Given the description of an element on the screen output the (x, y) to click on. 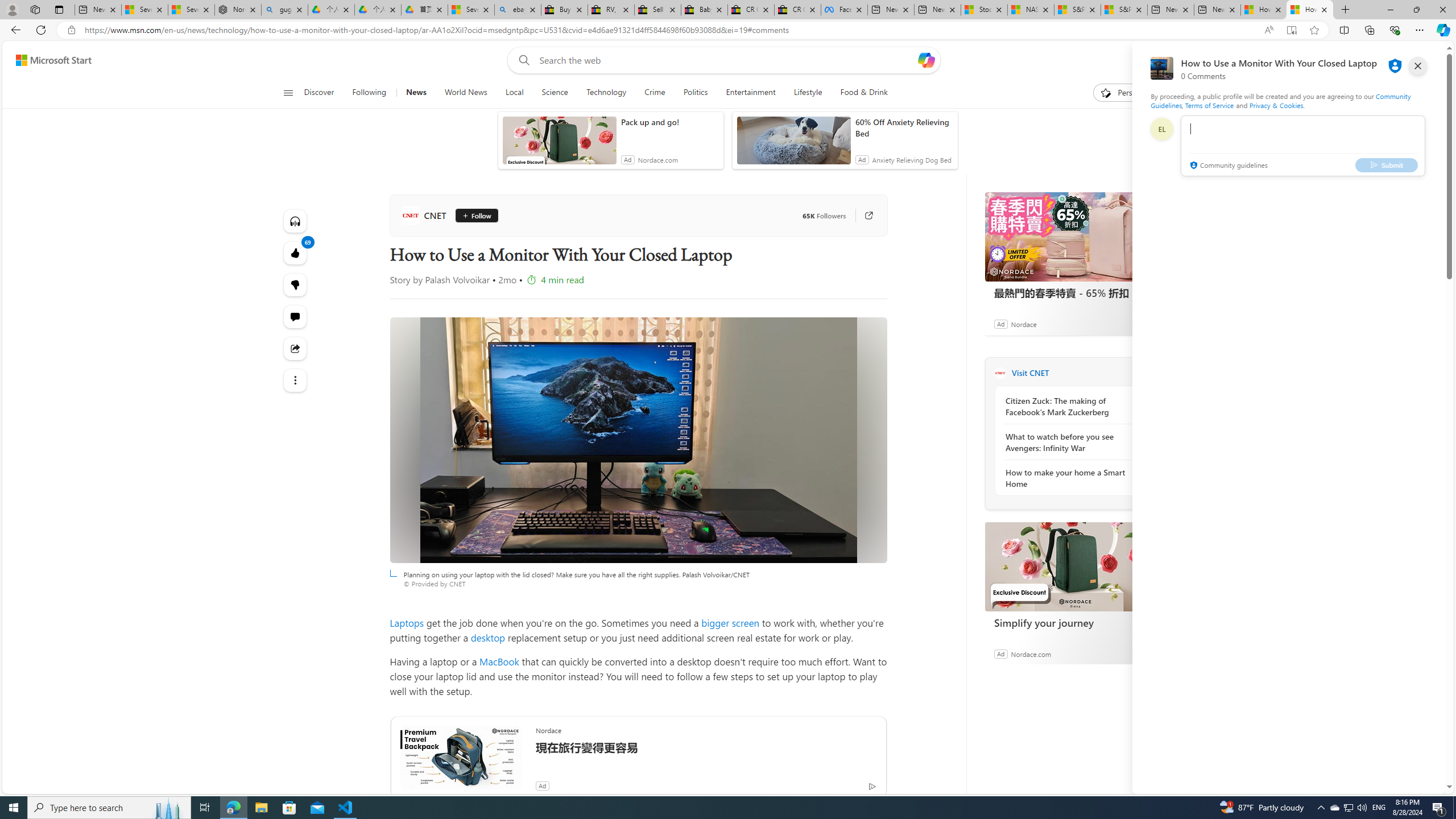
S&P 500, Nasdaq end lower, weighed by Nvidia dip | Watch (1123, 9)
Share this story (295, 348)
How to Use a Monitor With Your Closed Laptop (1309, 9)
desktop (487, 637)
Nordace.com (1030, 653)
